Given the description of an element on the screen output the (x, y) to click on. 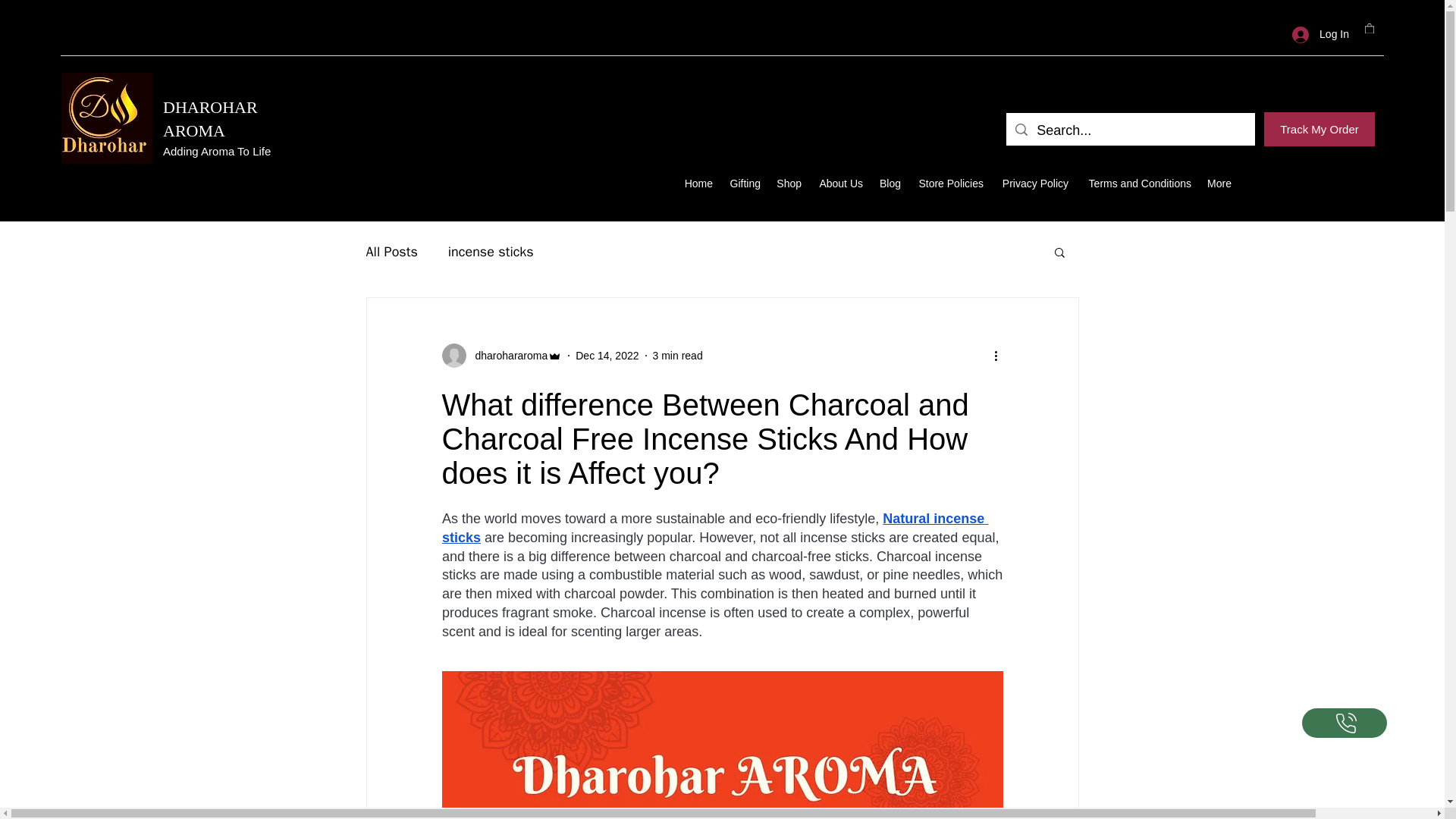
Terms and Conditions (1136, 182)
Dec 14, 2022 (607, 355)
incense sticks (491, 251)
dharohararoma (506, 355)
Natural incense sticks (714, 528)
Gifting (744, 182)
All Posts (390, 251)
3 min read (677, 355)
Home (697, 182)
dharohararoma (501, 355)
Shop (788, 182)
DHAROHAR AROMA (210, 118)
Privacy Policy (1033, 182)
Store Policies (949, 182)
Log In (1320, 34)
